Given the description of an element on the screen output the (x, y) to click on. 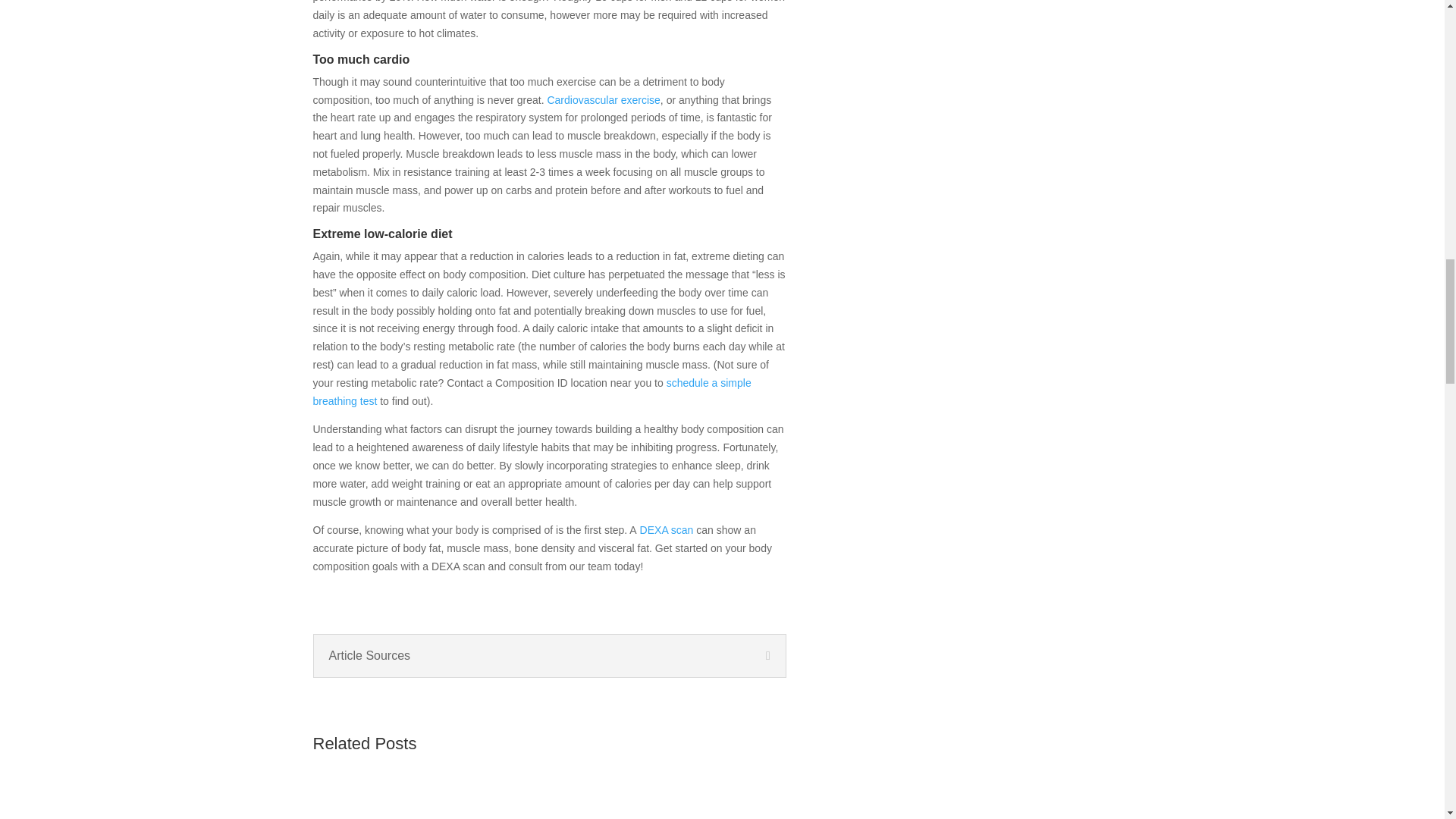
DEXA scan (665, 530)
schedule a simple breathing test (532, 391)
Cardiovascular exercise (602, 100)
